Given the description of an element on the screen output the (x, y) to click on. 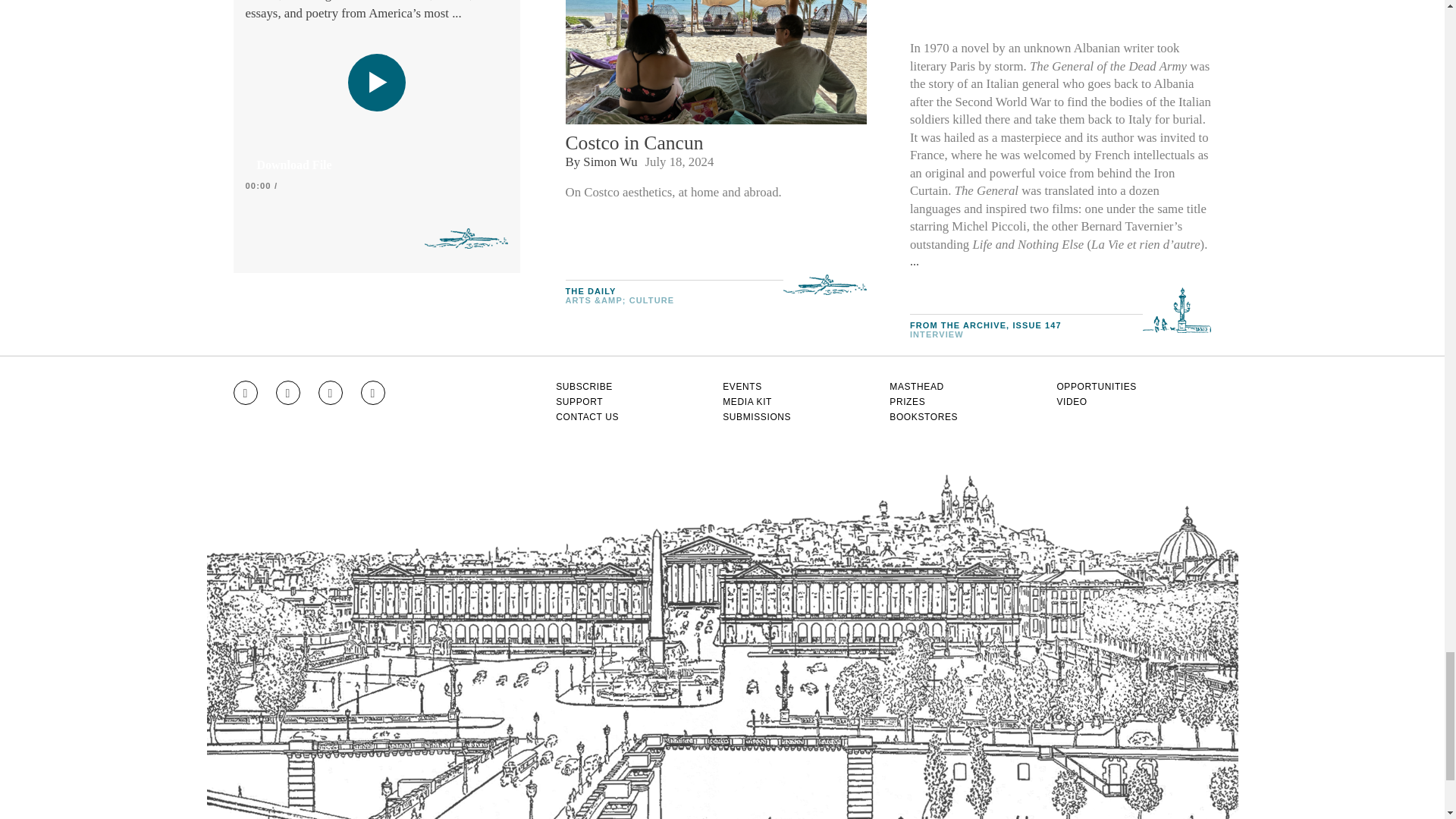
Go to Facebook page (287, 392)
Go to RSS feed (373, 392)
Go to Instagram feed (244, 392)
Go to Twitter feed (330, 392)
